Given the description of an element on the screen output the (x, y) to click on. 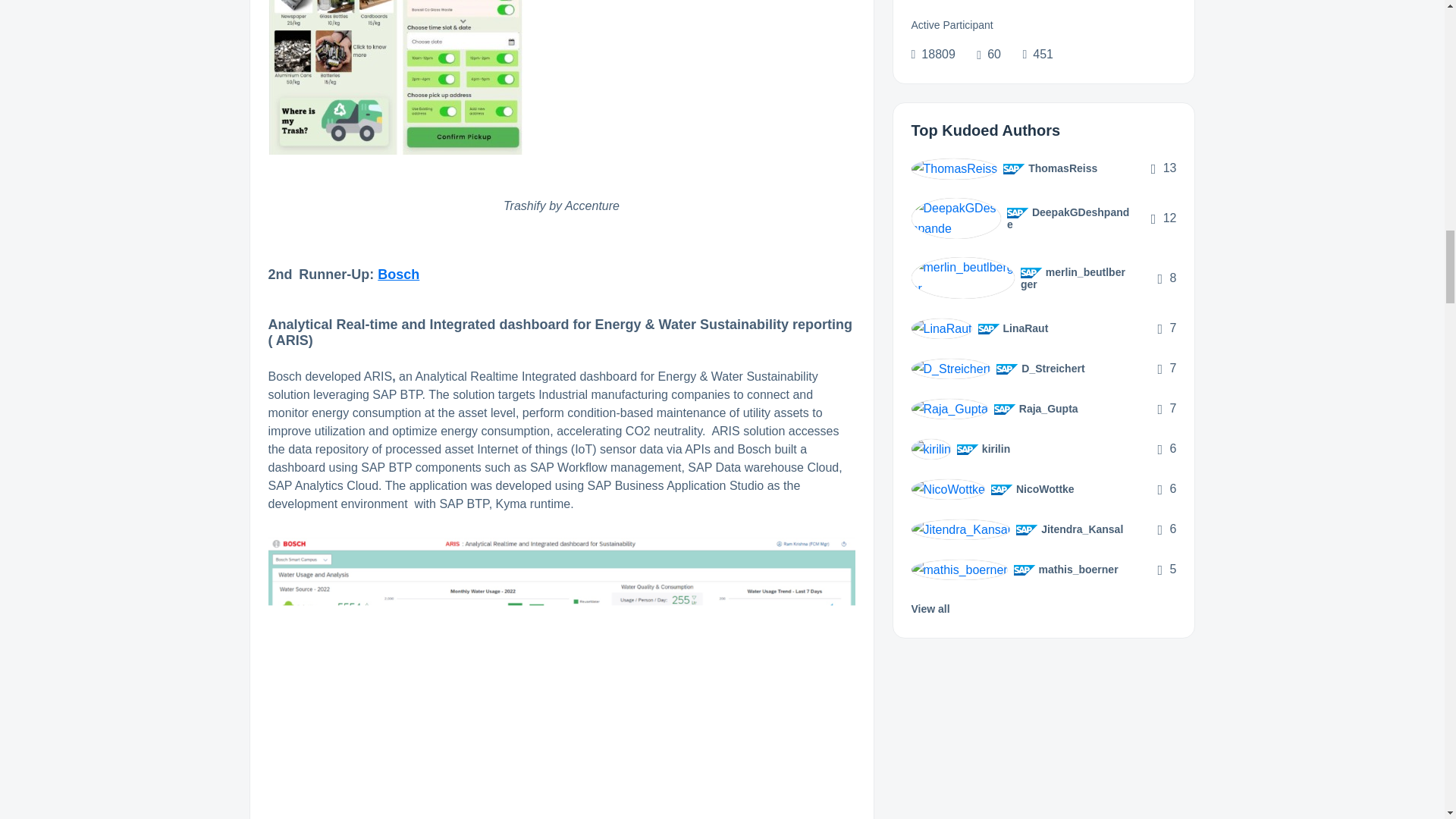
Bosch (398, 273)
